Given the description of an element on the screen output the (x, y) to click on. 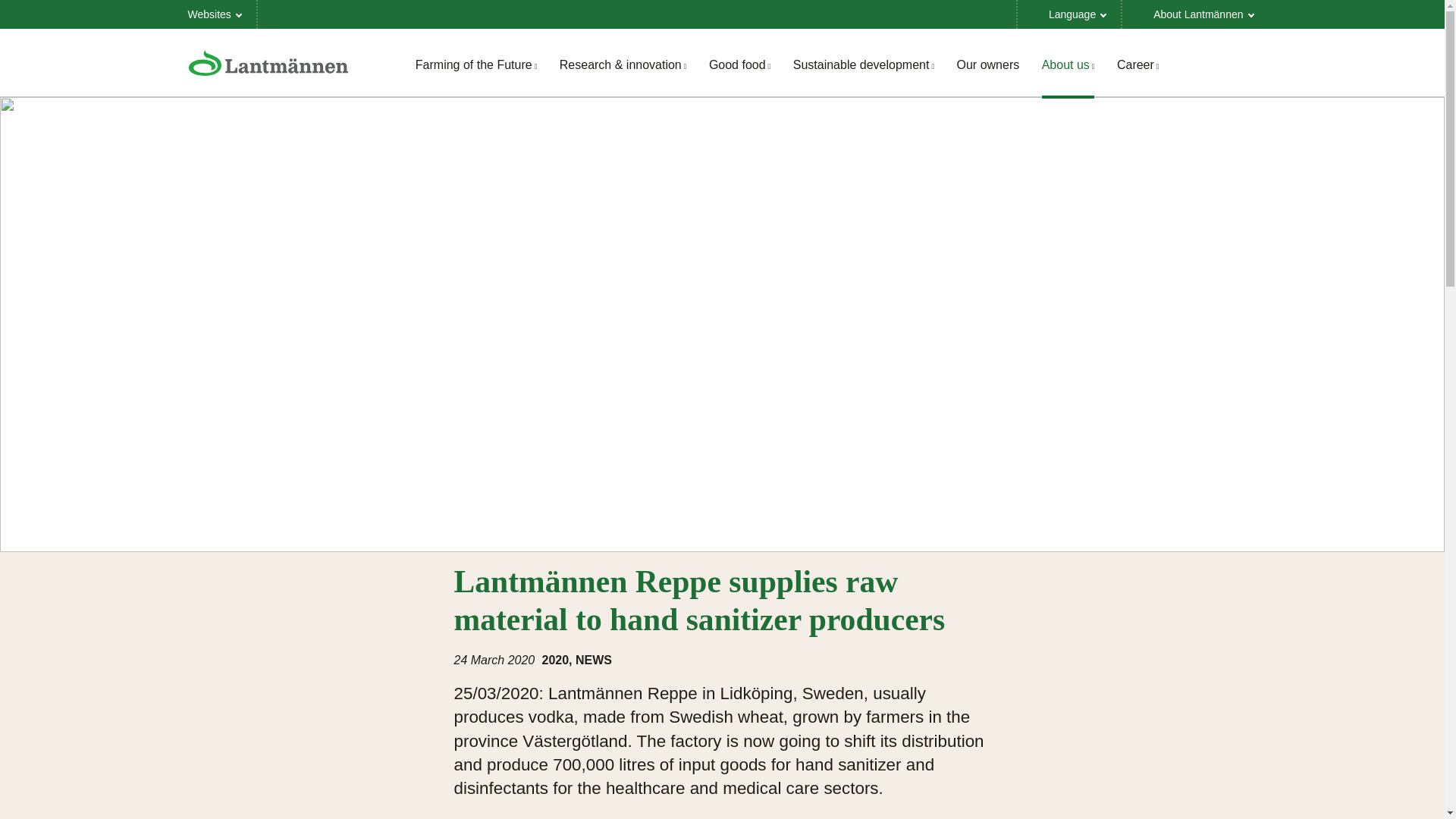
browse (216, 14)
Websites (216, 14)
Search (1239, 64)
Language (1069, 14)
Farming of the Future (475, 64)
language (1069, 14)
Sustainable development (863, 64)
about (1195, 14)
Good food (739, 64)
